Given the description of an element on the screen output the (x, y) to click on. 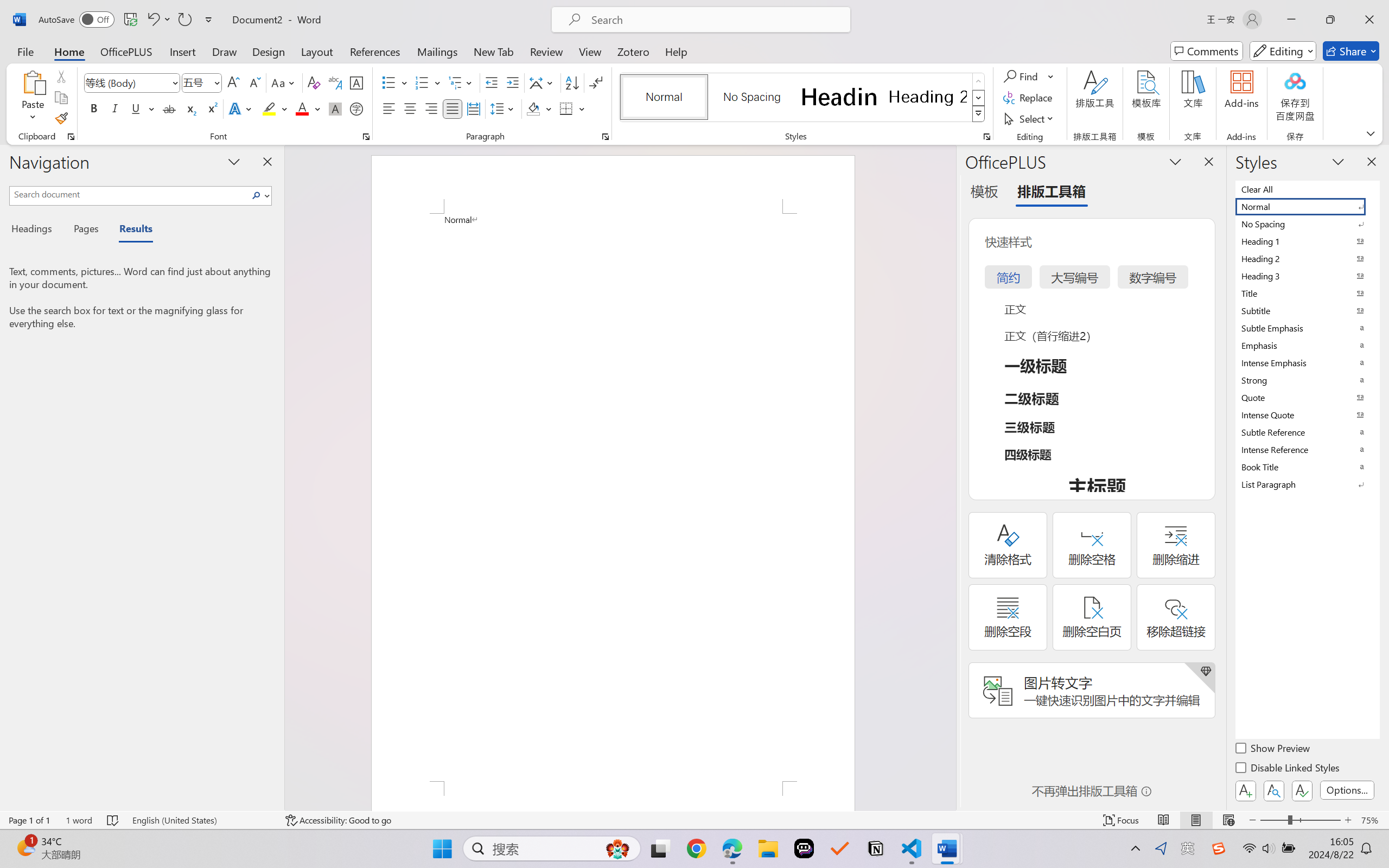
Undo Apply Quick Style (152, 19)
